Given the description of an element on the screen output the (x, y) to click on. 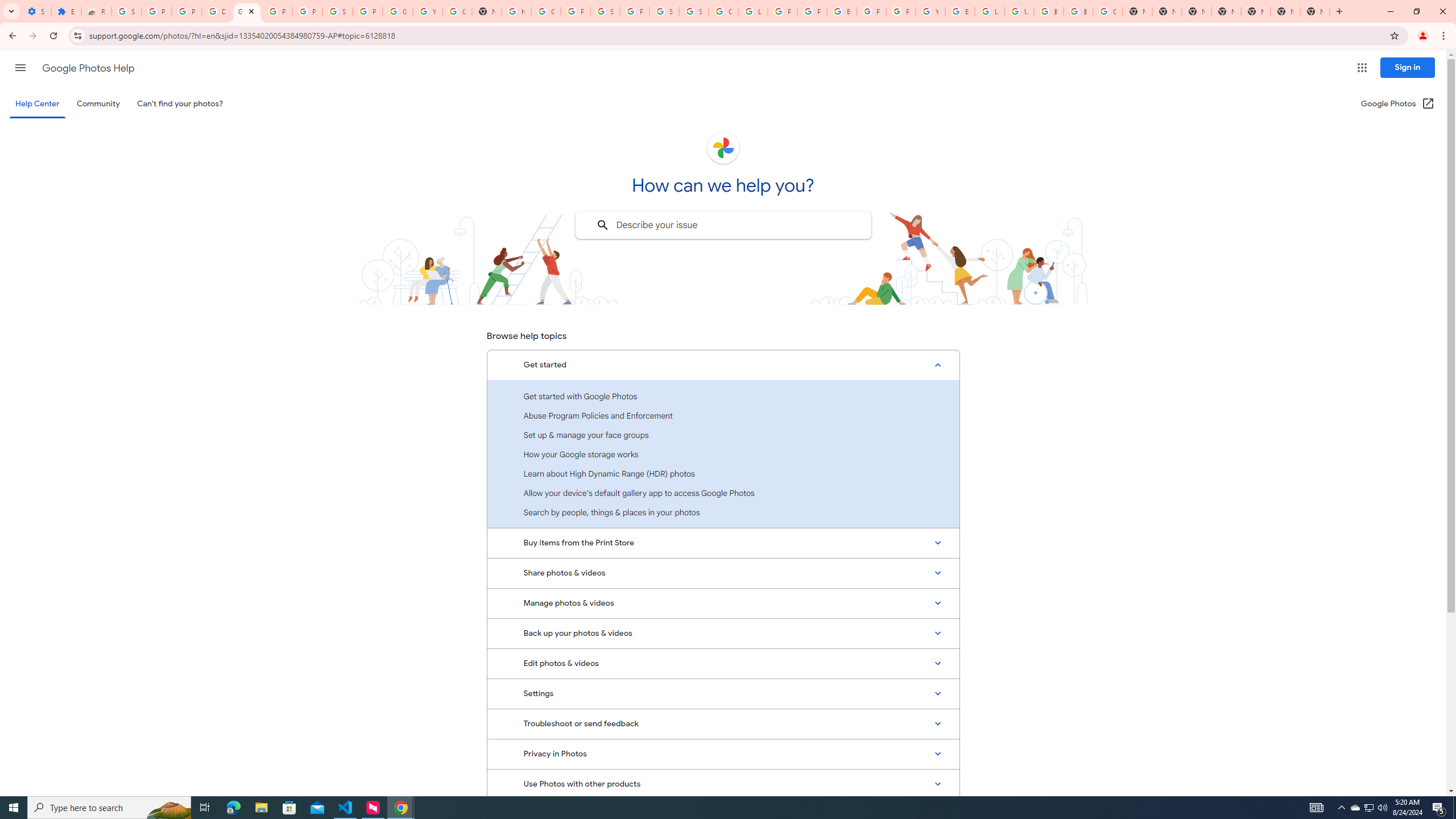
Troubleshoot or send feedback (722, 723)
Learn about High Dynamic Range (HDR) photos (722, 473)
Share photos & videos (722, 573)
Back up your photos & videos (722, 633)
Google Photos (Open in a new window) (1397, 103)
Manage photos & videos (722, 603)
